Given the description of an element on the screen output the (x, y) to click on. 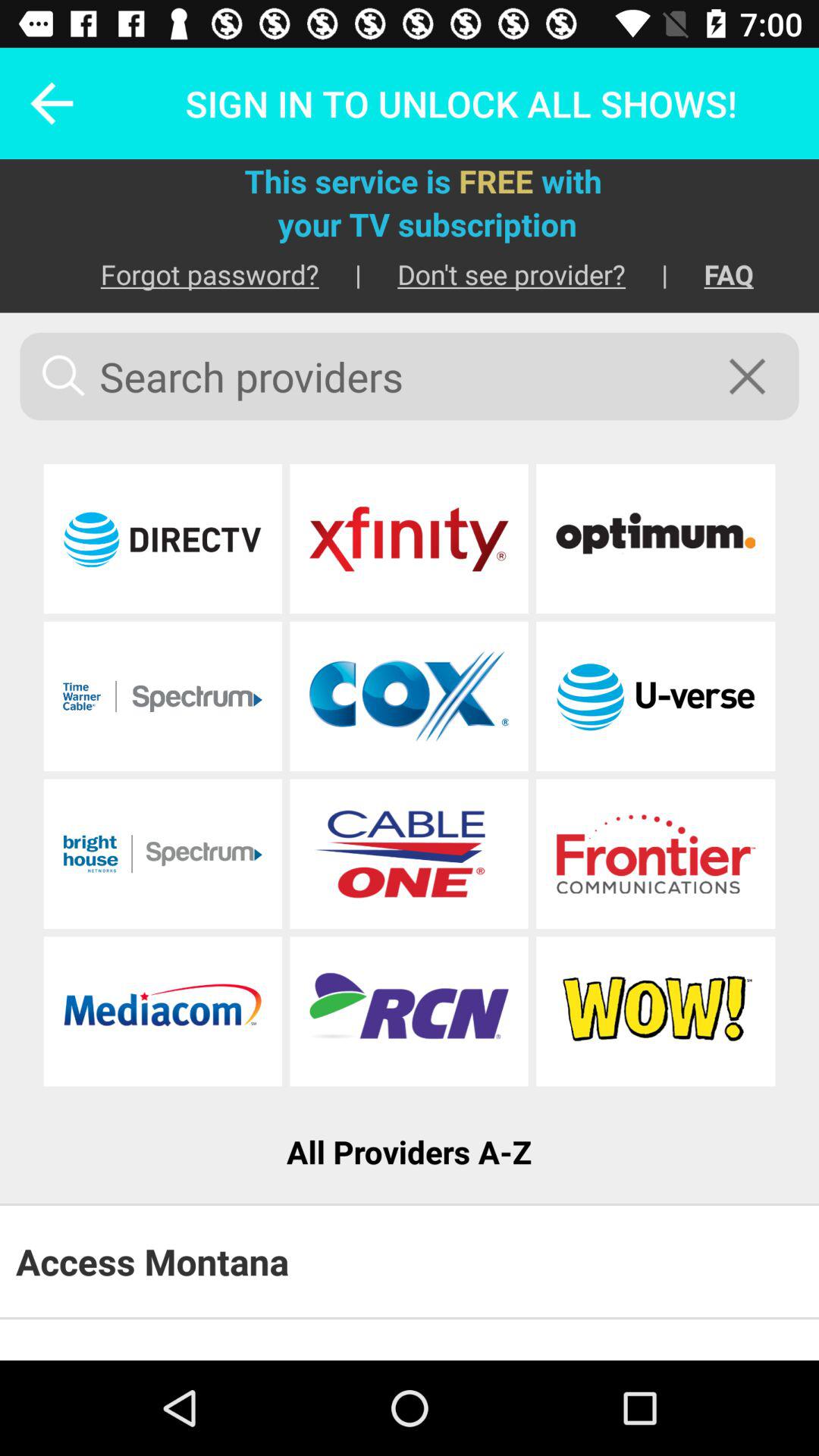
choose rcn (408, 1011)
